Given the description of an element on the screen output the (x, y) to click on. 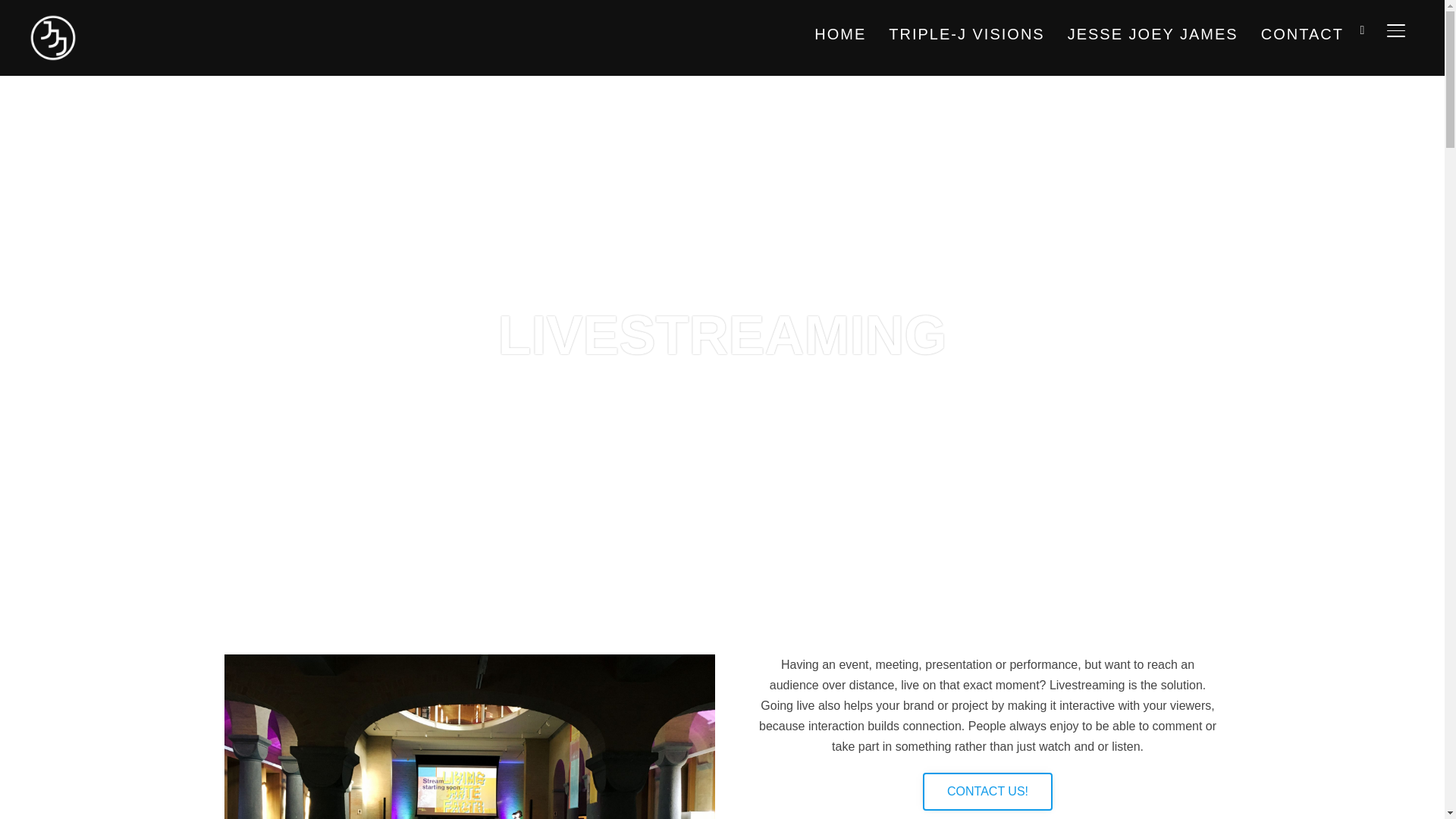
JESSE JOEY JAMES (1153, 33)
CONTACT US! (987, 791)
CONTACT (1301, 33)
TRIPLE-J VISIONS (965, 33)
HOME (839, 33)
Search (15, 15)
